Given the description of an element on the screen output the (x, y) to click on. 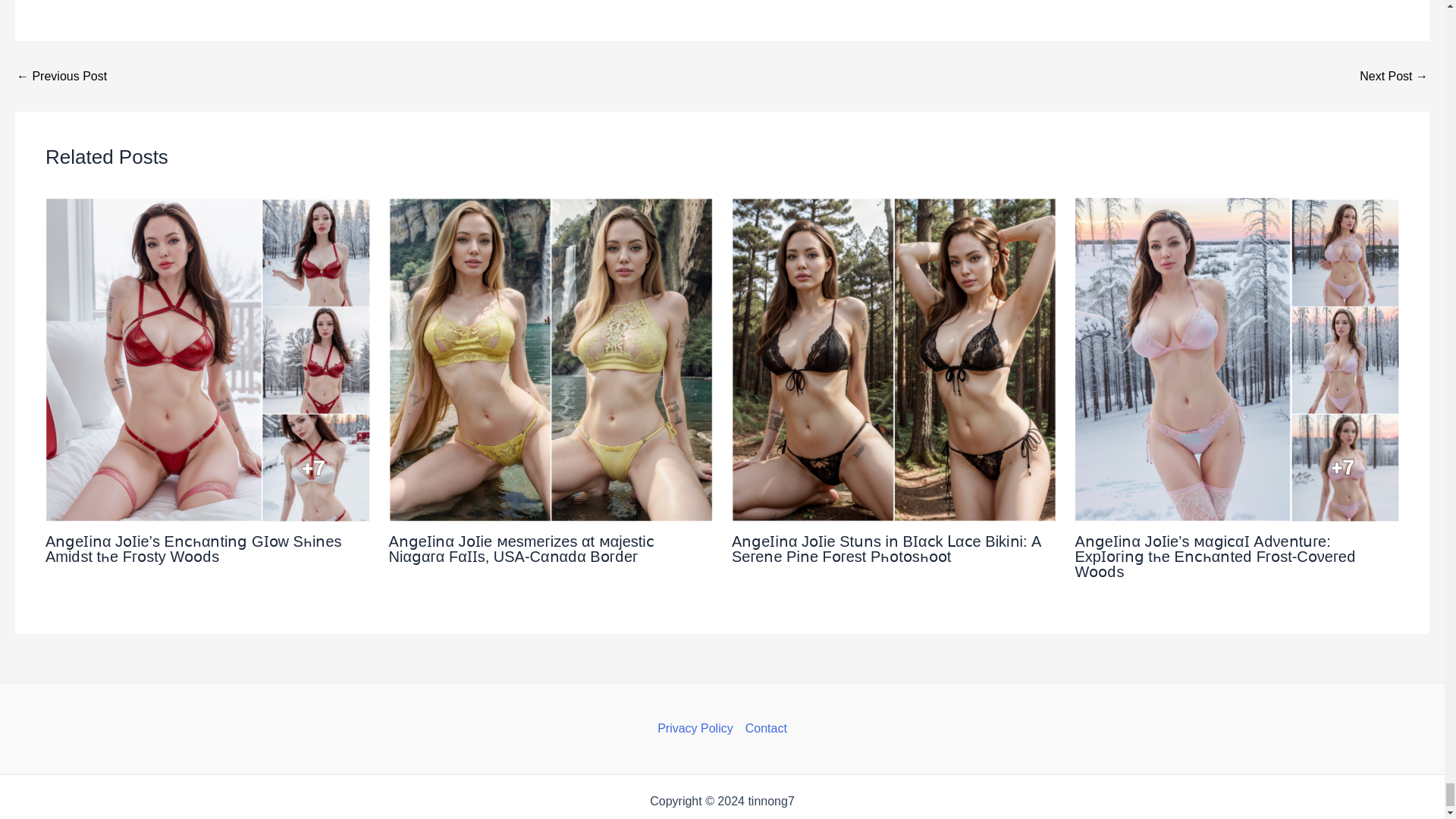
Privacy Policy (698, 728)
Contact (763, 728)
